Given the description of an element on the screen output the (x, y) to click on. 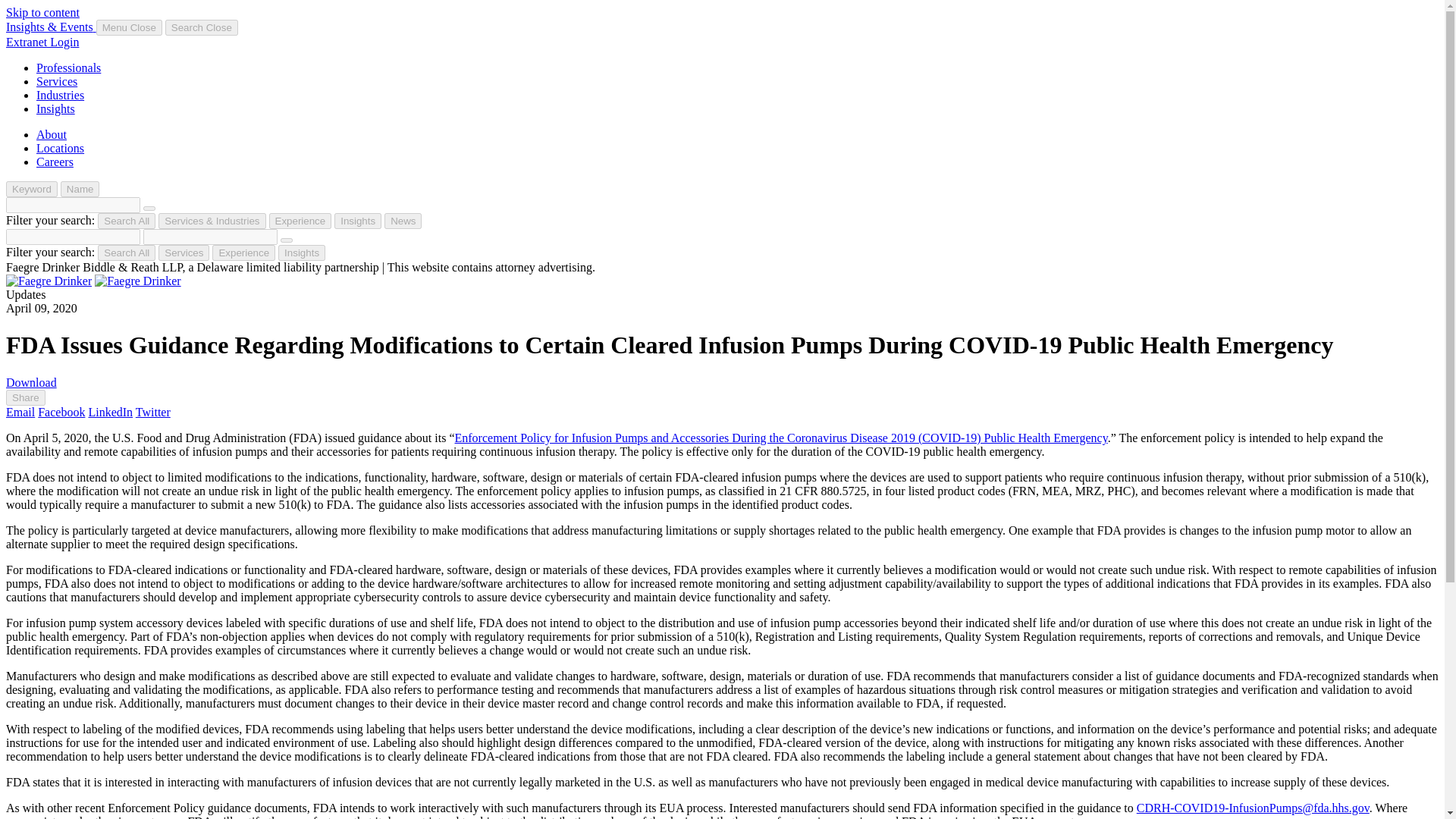
Facebook (60, 411)
Search Close (201, 27)
Professionals (68, 67)
LinkedIn (109, 411)
Email (19, 411)
Industries (60, 94)
Download (30, 382)
Search All (126, 220)
Extranet Login (41, 42)
Share (25, 397)
Insights (357, 220)
Careers (55, 161)
Insights (301, 252)
About (51, 133)
Locations (60, 147)
